Given the description of an element on the screen output the (x, y) to click on. 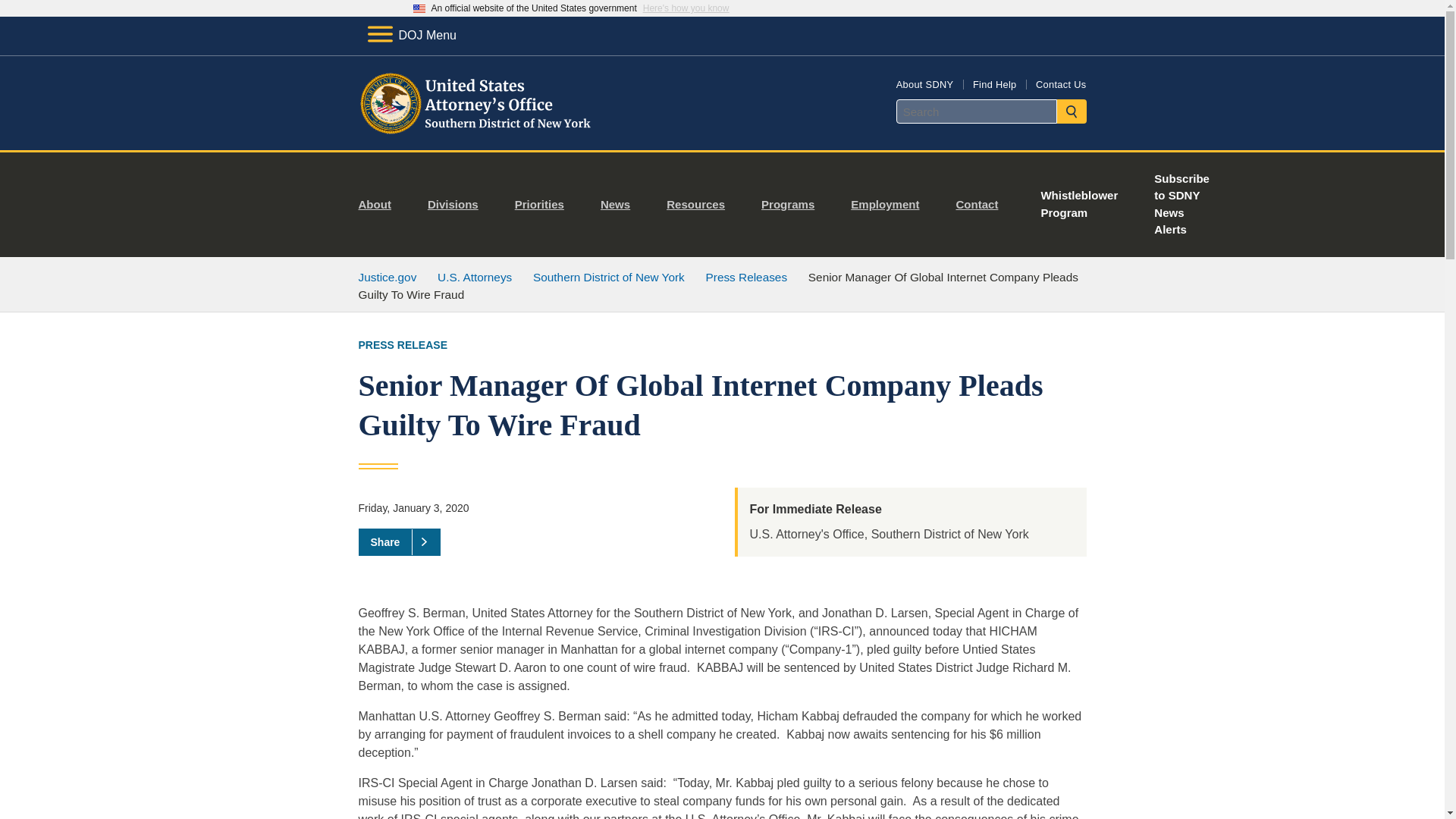
U.S. Attorneys (475, 277)
Contact Us (1060, 84)
Find Help (994, 84)
Press Releases (746, 277)
Employment (890, 204)
Whistleblower Program (1078, 204)
Resources (701, 204)
Here's how you know (686, 8)
Share (398, 542)
Justice.gov (387, 277)
